Given the description of an element on the screen output the (x, y) to click on. 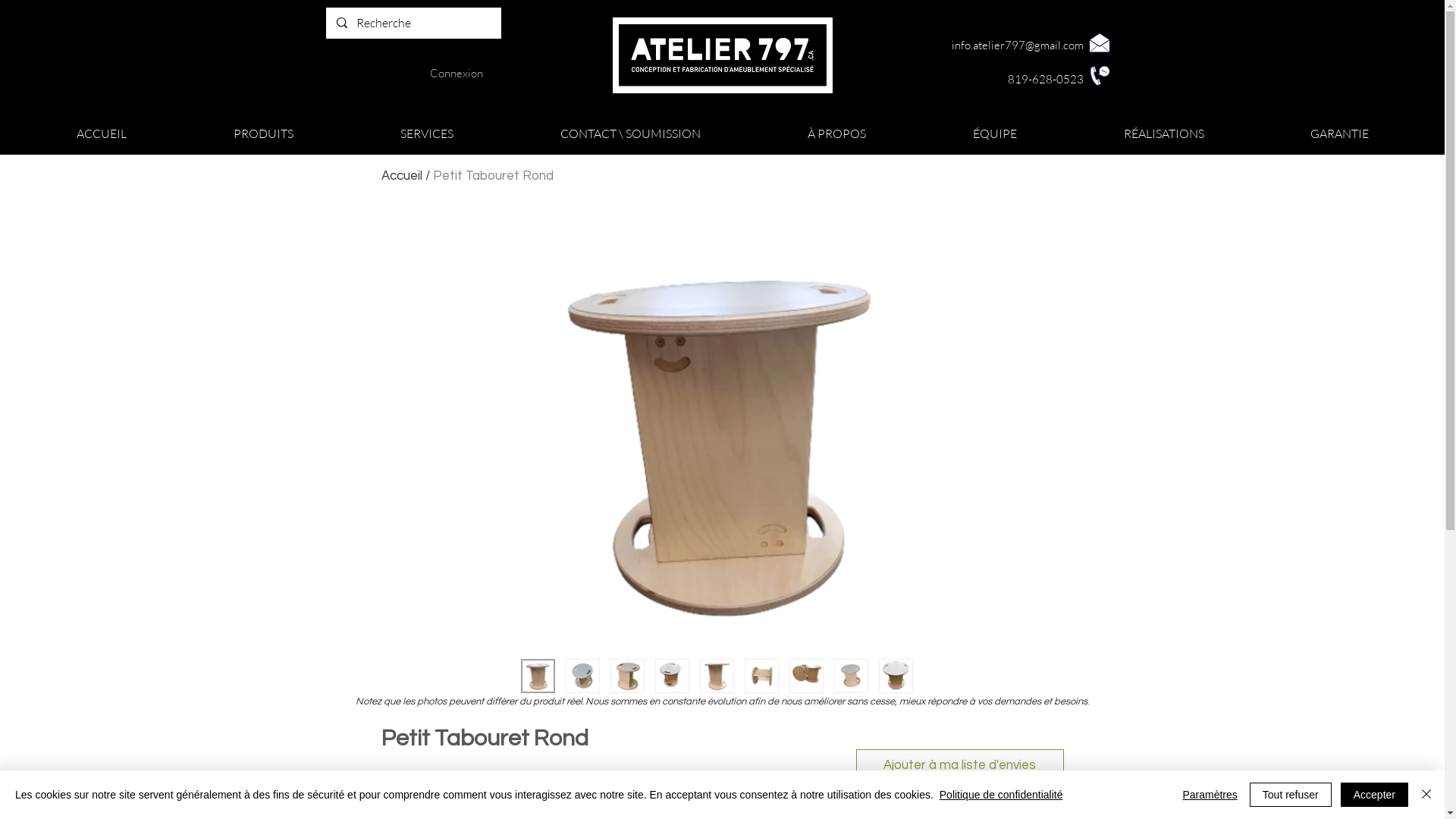
Connexion Element type: text (455, 72)
PRODUITS Element type: text (262, 133)
Accueil Element type: text (400, 175)
Tout refuser Element type: text (1290, 794)
SERVICES Element type: text (426, 133)
info.atelier797@gmail.com Element type: text (1016, 44)
Petit Tabouret Rond Element type: text (492, 175)
Accepter Element type: text (1374, 794)
CONTACT \ SOUMISSION Element type: text (629, 133)
GARANTIE Element type: text (1339, 133)
ACCUEIL Element type: text (100, 133)
